Given the description of an element on the screen output the (x, y) to click on. 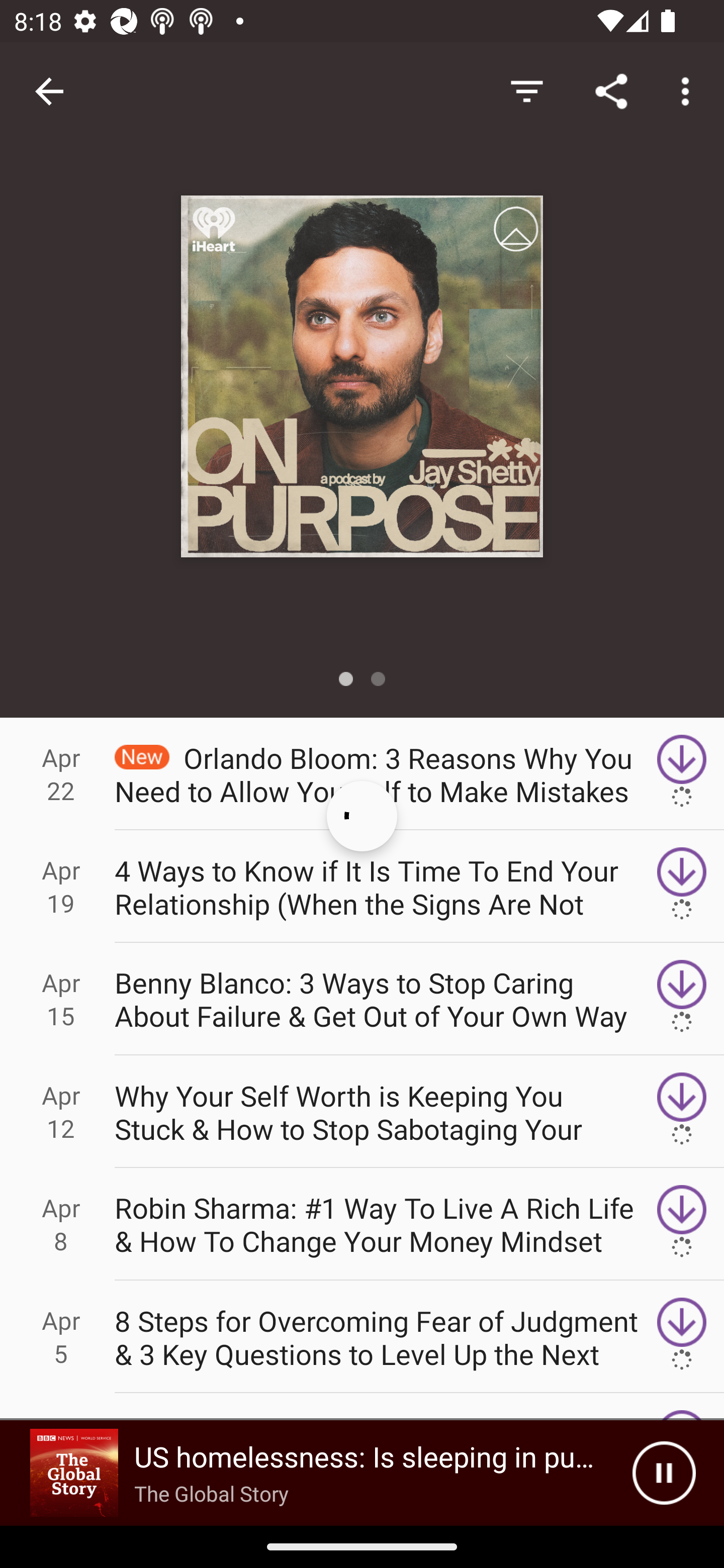
Navigate up (49, 91)
Hide Episodes (526, 90)
Share Link (611, 90)
More options (688, 90)
Download  (681, 773)
Download  (681, 885)
Download  (681, 998)
Download  (681, 1111)
Download  (681, 1224)
Download  (681, 1336)
Pause (663, 1472)
